Given the description of an element on the screen output the (x, y) to click on. 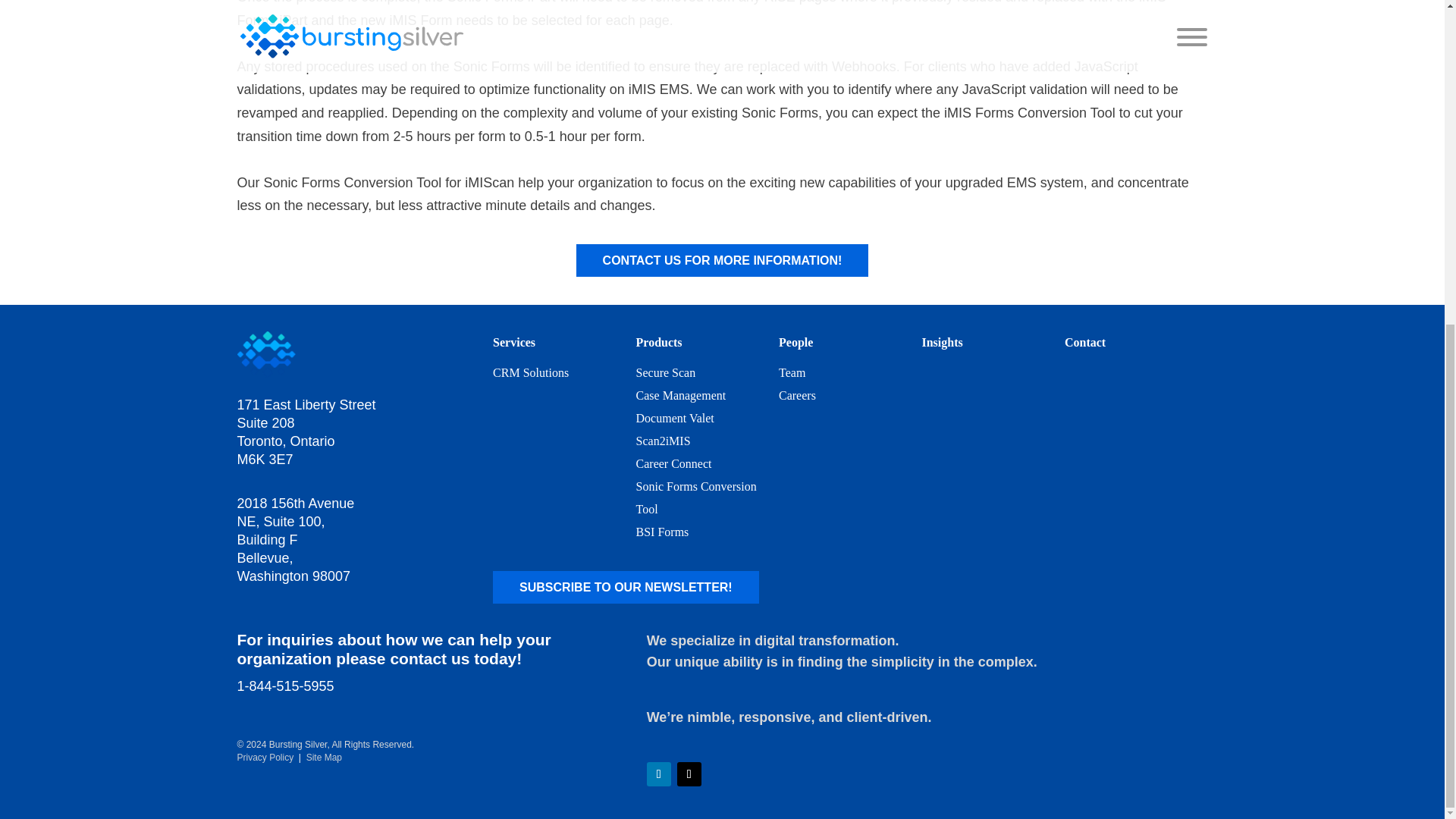
1-844-515-5955 (284, 685)
People (795, 341)
CONTACT US FOR MORE INFORMATION! (722, 260)
Career Connect (673, 463)
SUBSCRIBE TO OUR NEWSLETTER! (625, 586)
Case Management (681, 395)
Privacy Policy (264, 757)
Scan2iMIS (663, 440)
Insights (941, 341)
Products (659, 341)
